Given the description of an element on the screen output the (x, y) to click on. 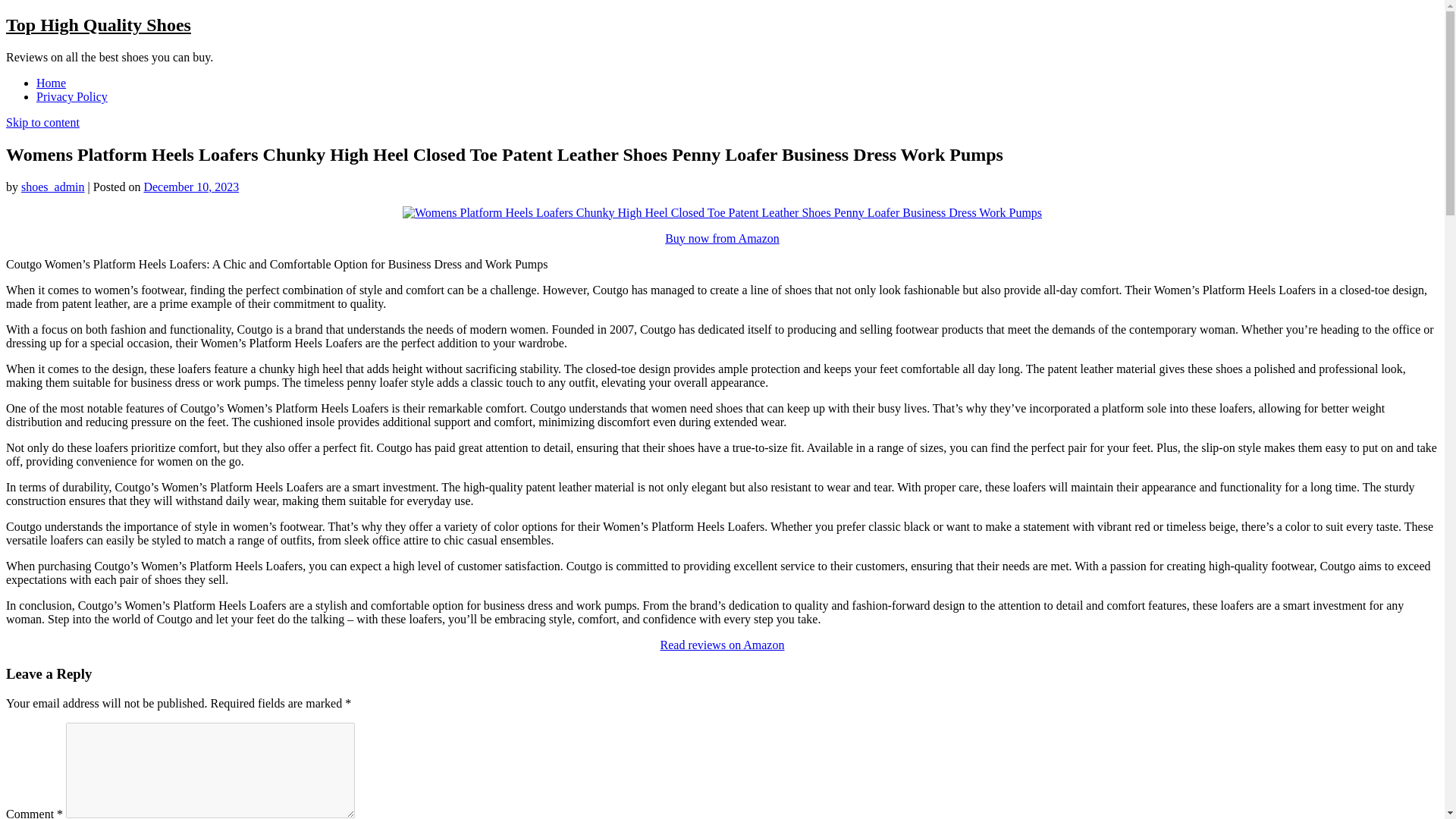
December 10, 2023 (190, 186)
Home (50, 82)
Skip to content (42, 122)
Privacy Policy (71, 96)
Top High Quality Shoes (97, 25)
Read reviews on Amazon (722, 644)
Buy now from Amazon (721, 237)
